Given the description of an element on the screen output the (x, y) to click on. 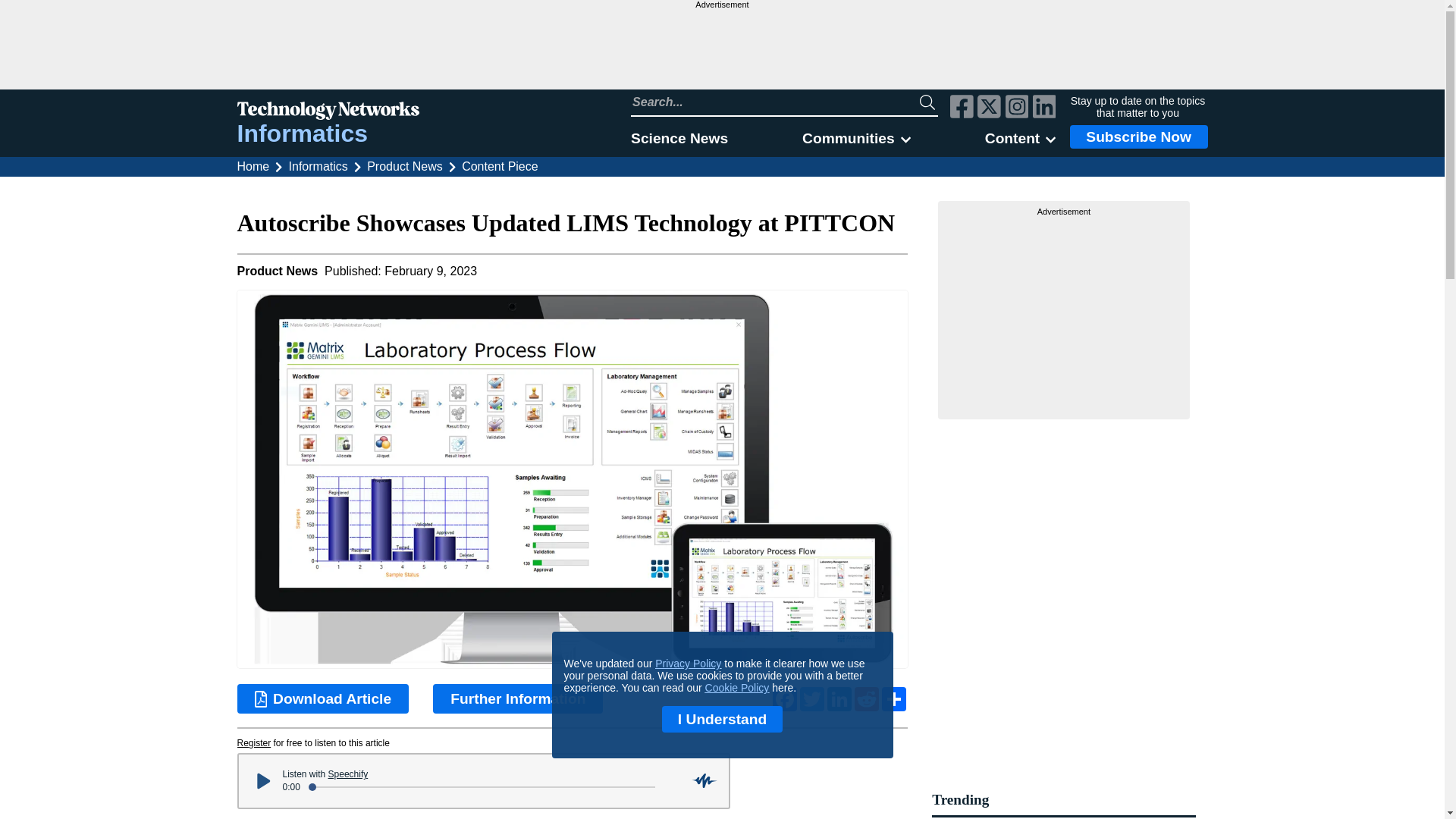
3rd party ad content (721, 49)
Technology Networks logo (327, 112)
3rd party ad content (1063, 312)
I Understand (722, 718)
Search Technology Networks website input field (775, 102)
Cookie Policy (737, 687)
Privacy Policy (687, 663)
